Given the description of an element on the screen output the (x, y) to click on. 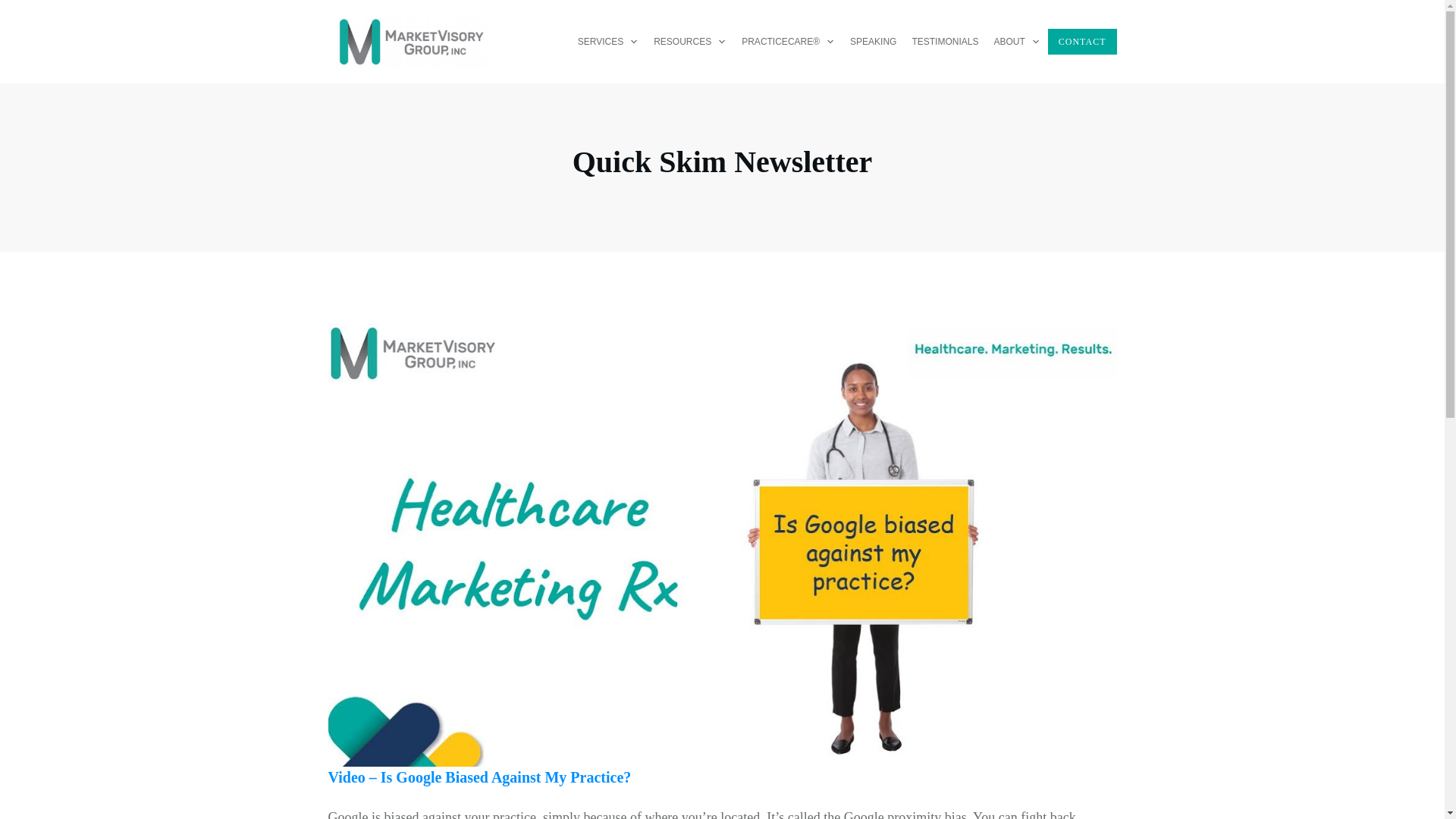
RESOURCES (689, 41)
TESTIMONIALS (944, 41)
SPEAKING (873, 41)
SERVICES (608, 41)
logo (409, 41)
ABOUT (1015, 41)
Quick Skim Newsletter (722, 161)
CONTACT (1082, 41)
Quick Skim Newsletter (722, 161)
